Given the description of an element on the screen output the (x, y) to click on. 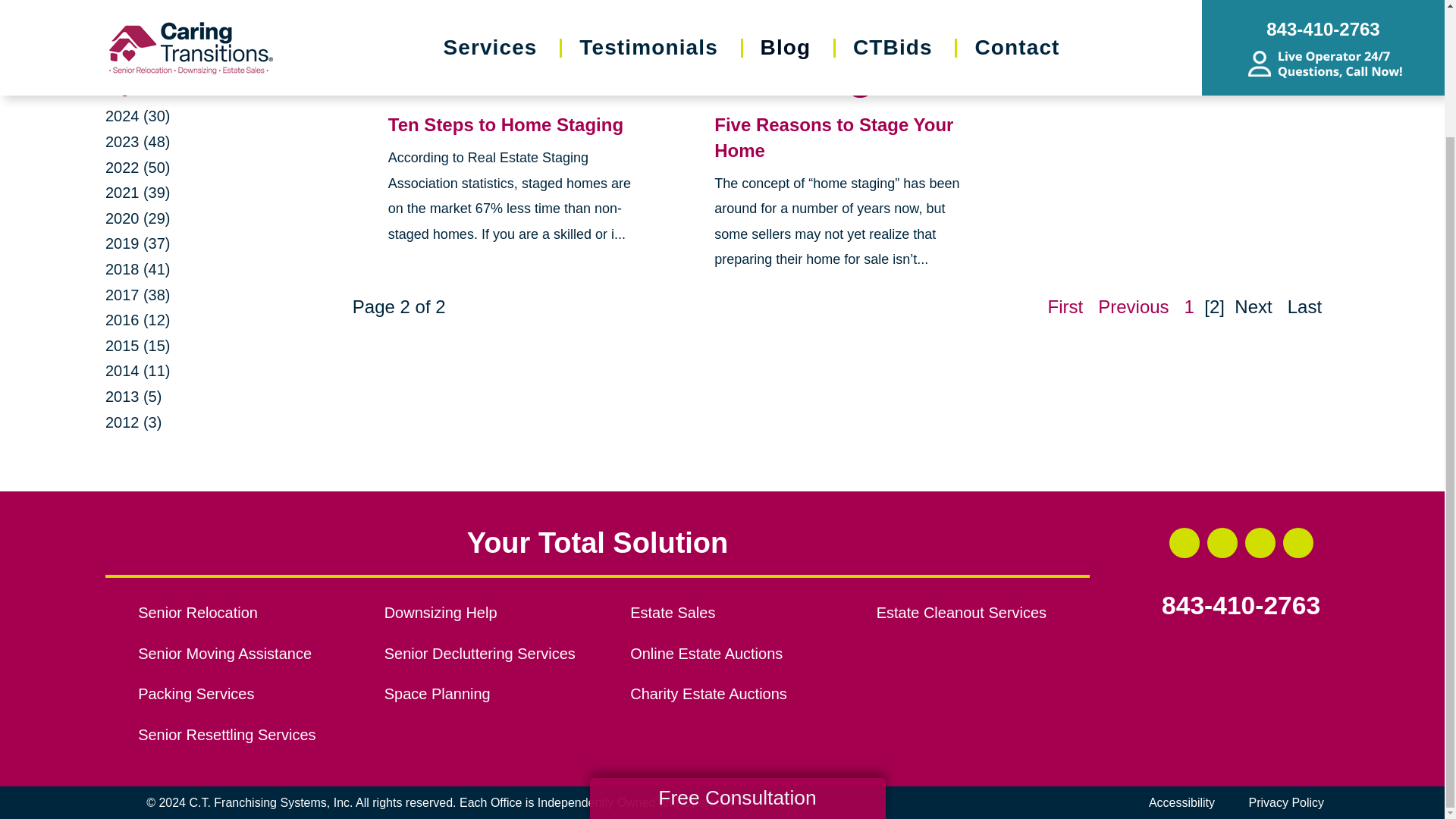
Five Reasons to Stage Your Home (833, 137)
Packing Services (244, 694)
Instagram (1259, 542)
Ten Steps to Home Staging (505, 124)
Search the blog (208, 35)
Previous (1133, 306)
Senior Moving Assistance (244, 654)
Google Business Page (1297, 542)
Facebook (1184, 542)
LinkedIn (1222, 542)
First (1065, 306)
Senior Relocation (244, 613)
RSS Feed (1321, 61)
